Given the description of an element on the screen output the (x, y) to click on. 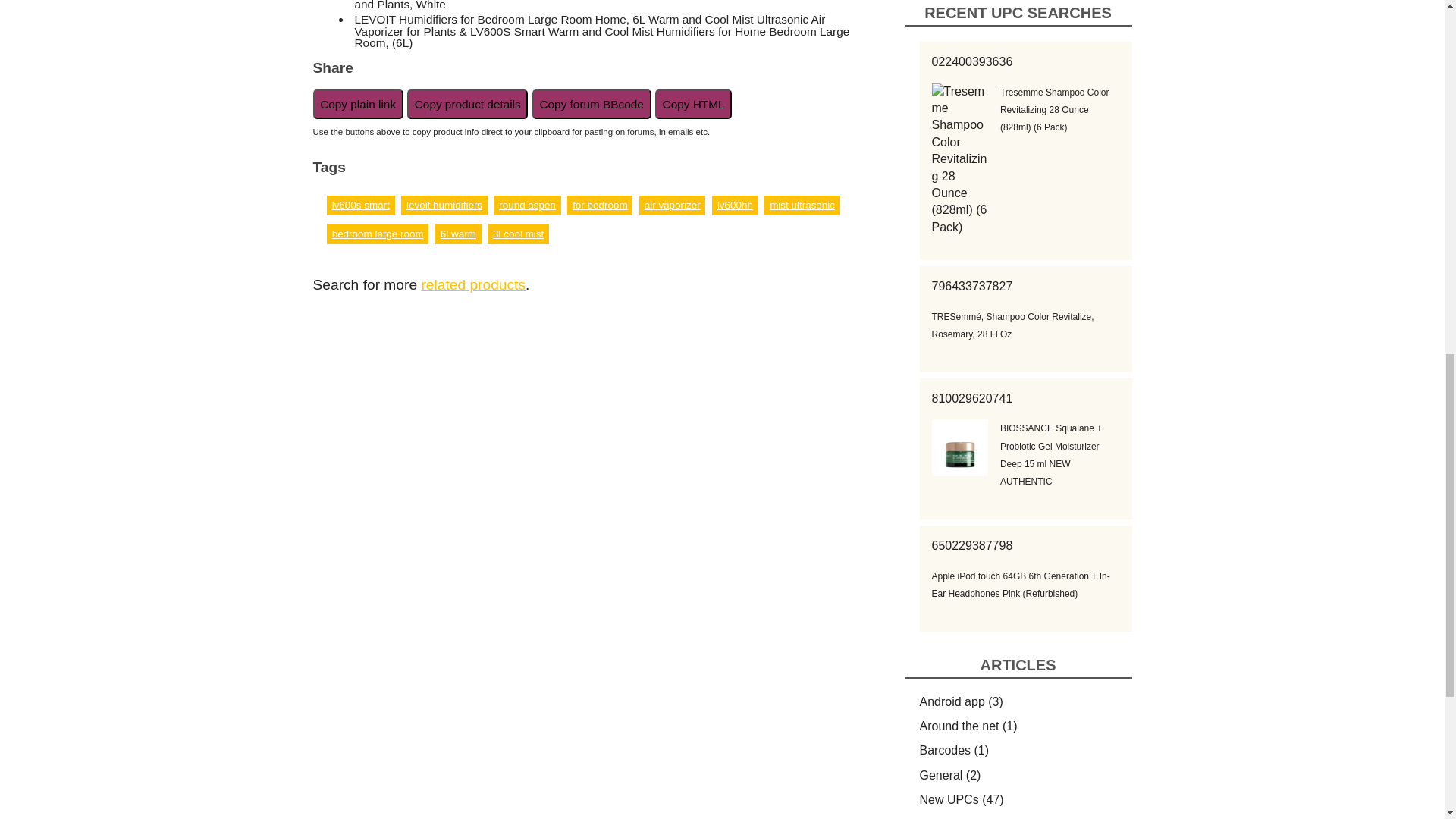
lv600s smart (360, 204)
levoit humidifiers (443, 204)
lv600hh (734, 204)
Copy forum BBcode (591, 103)
6l warm (458, 233)
Copy product details (467, 103)
Copy HTML (693, 103)
round aspen (527, 204)
Copy plain link (358, 103)
bedroom large room (377, 233)
air vaporizer (672, 204)
mist ultrasonic (802, 204)
related products (472, 284)
3l cool mist (518, 233)
for bedroom (599, 204)
